Given the description of an element on the screen output the (x, y) to click on. 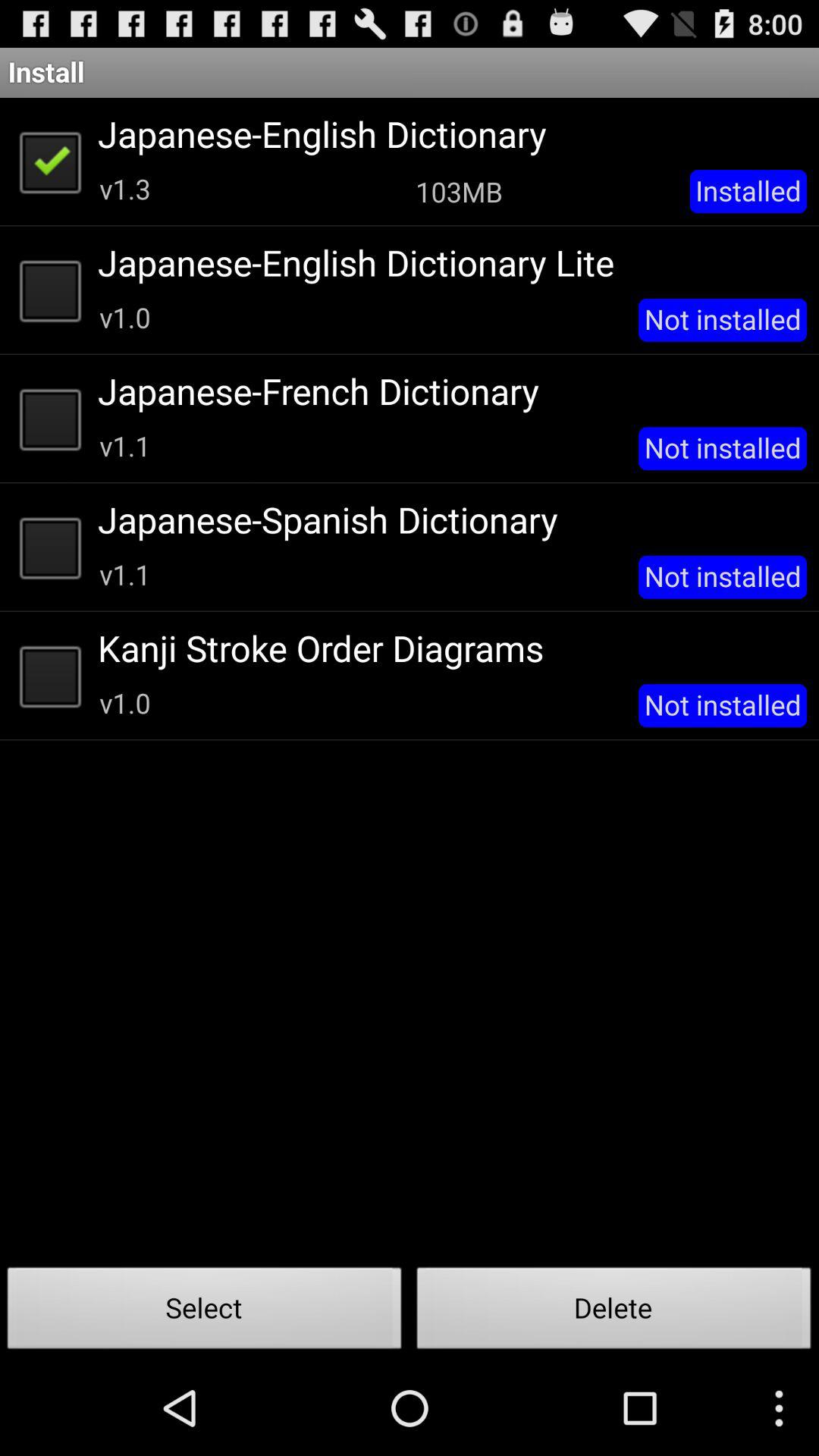
press the icon next to the delete icon (204, 1312)
